Given the description of an element on the screen output the (x, y) to click on. 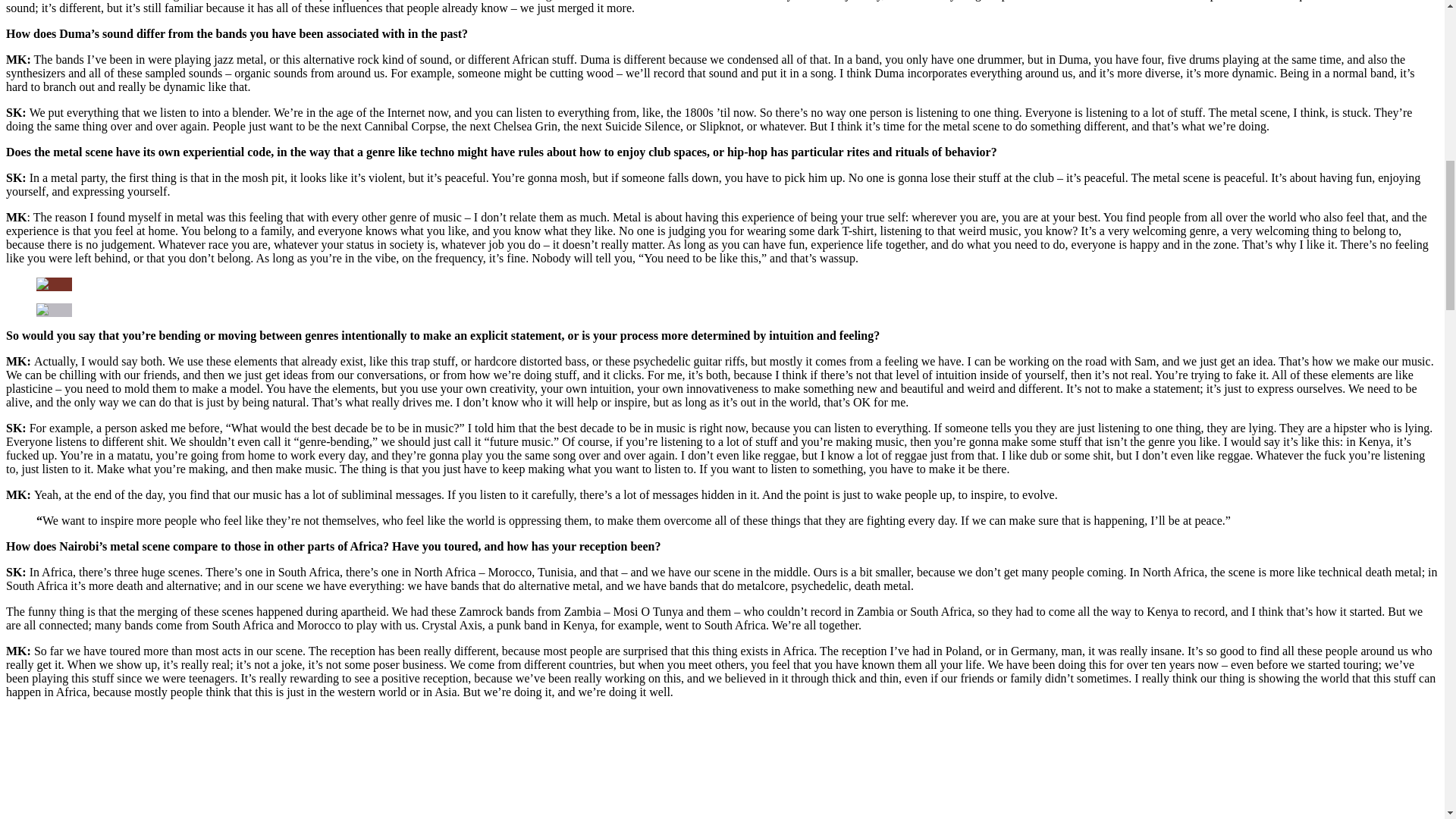
032c (53, 309)
032c (53, 284)
